Given the description of an element on the screen output the (x, y) to click on. 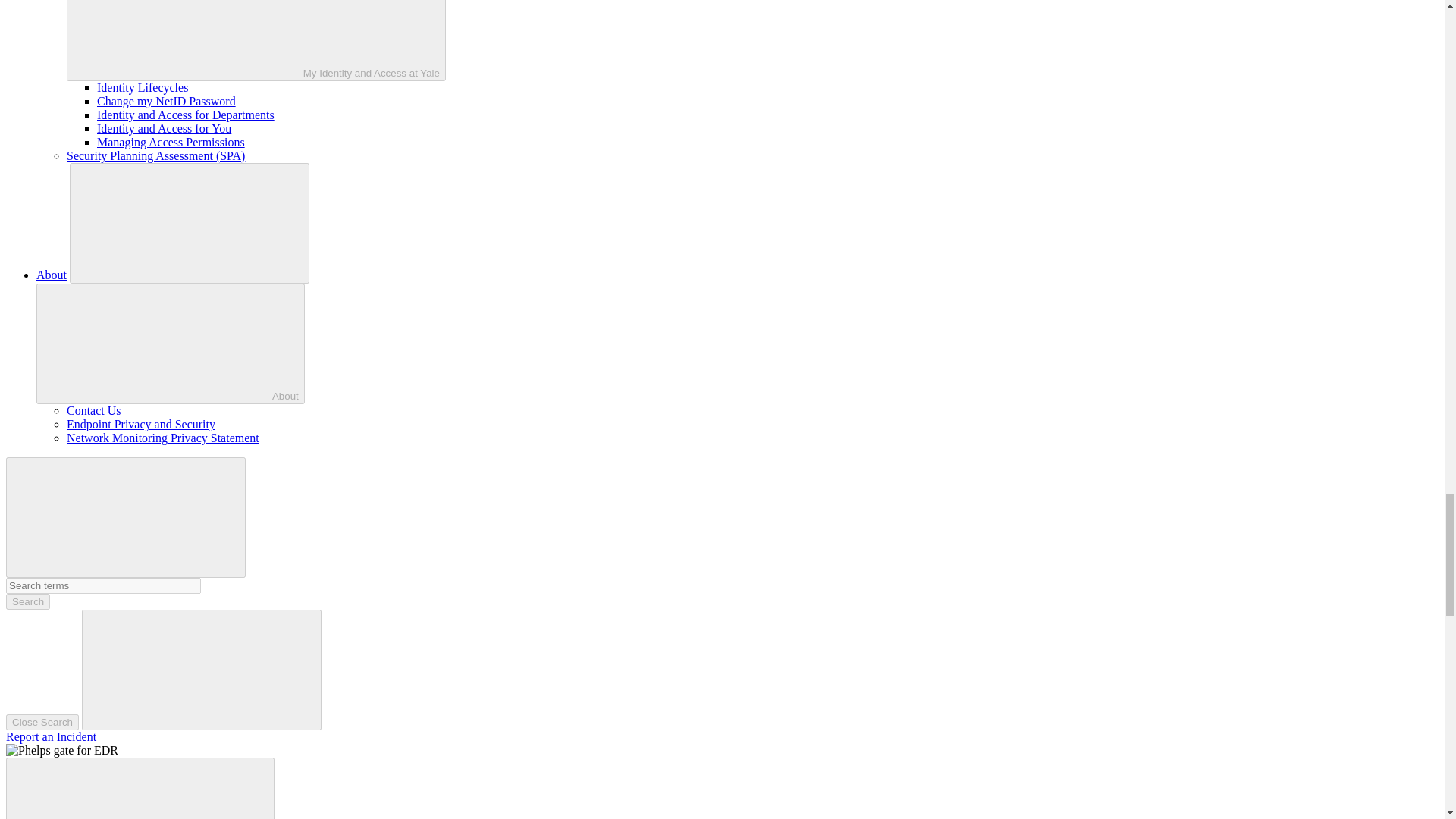
Search (27, 601)
